Given the description of an element on the screen output the (x, y) to click on. 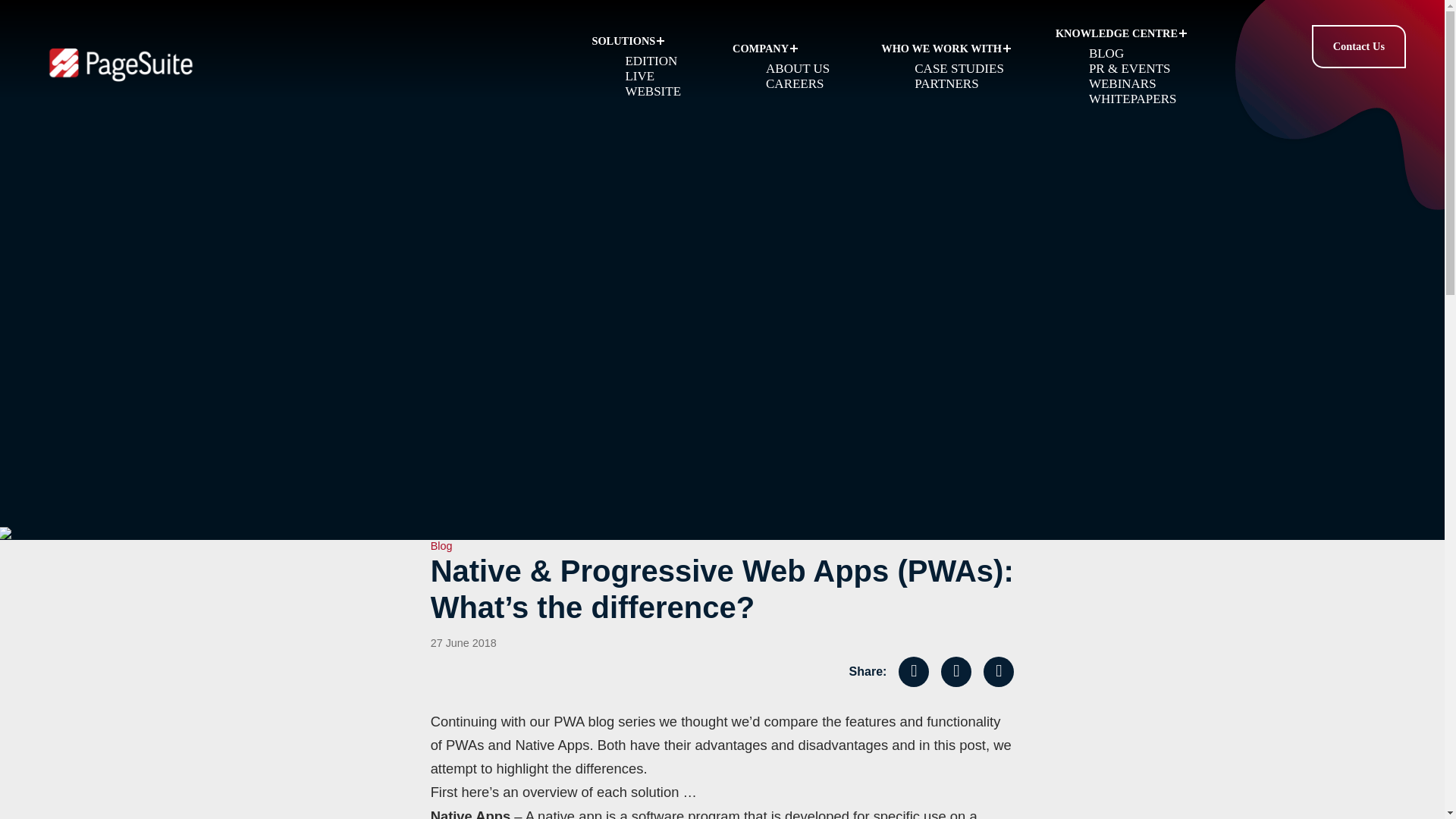
WEBSITE (652, 91)
WHITEPAPERS (1132, 98)
PARTNERS (946, 83)
COMPANY (785, 48)
LIVE (638, 75)
CASE STUDIES (959, 68)
WHO WE WORK WITH (947, 48)
Contact Us (1358, 46)
WEBINARS (1122, 83)
SOLUTIONS (640, 41)
